Given the description of an element on the screen output the (x, y) to click on. 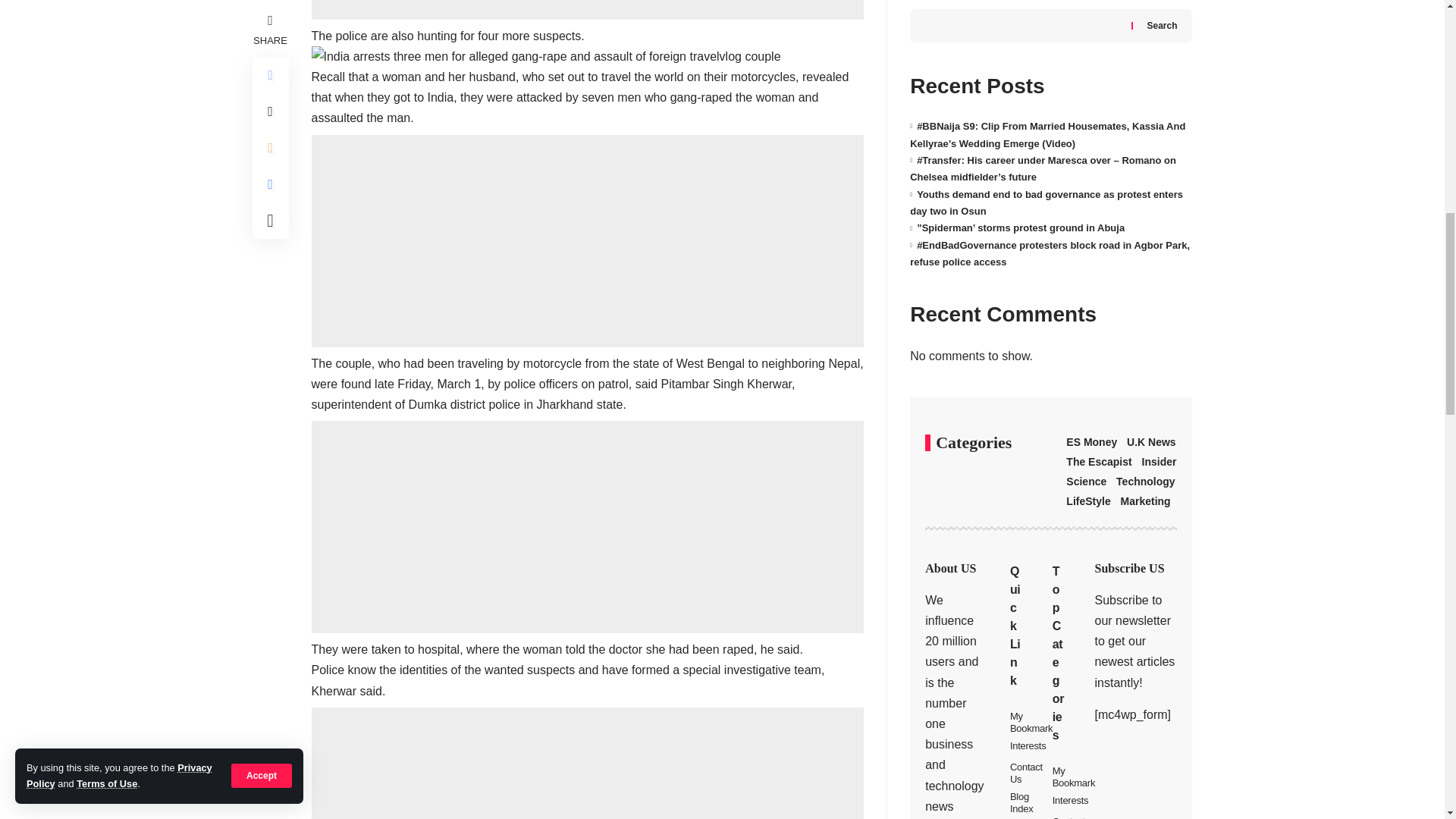
Advertisement (587, 763)
Advertisement (587, 241)
Advertisement (587, 9)
Advertisement (587, 526)
